Given the description of an element on the screen output the (x, y) to click on. 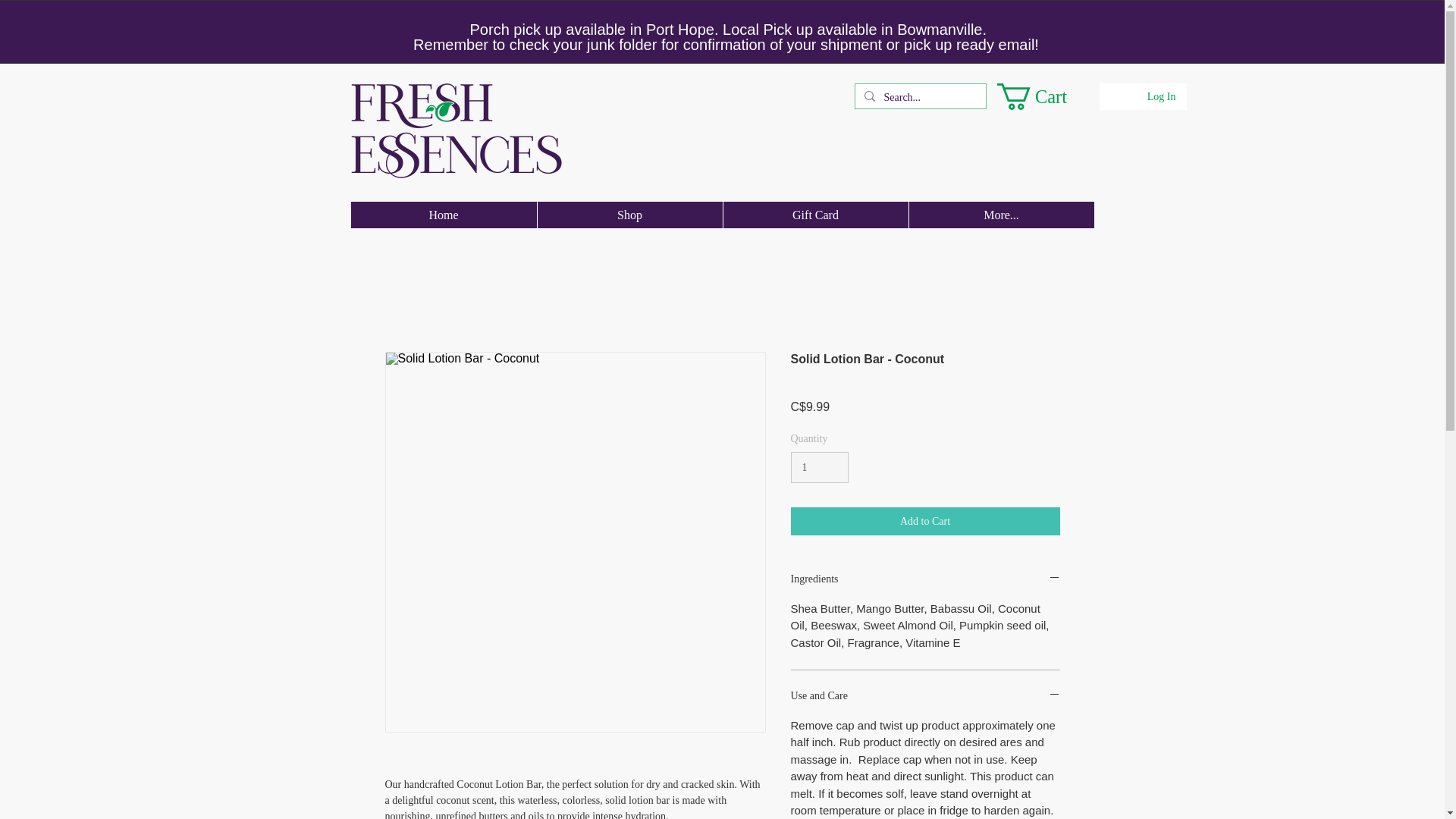
Ingredients (924, 579)
Log In (1161, 96)
Add to Cart (924, 520)
Home (442, 214)
Gift Card (814, 214)
Cart (1044, 96)
Fresh-Ressences-Logo-Colour.png (455, 130)
1 (818, 467)
Shop (629, 214)
Cart (1044, 96)
